Given the description of an element on the screen output the (x, y) to click on. 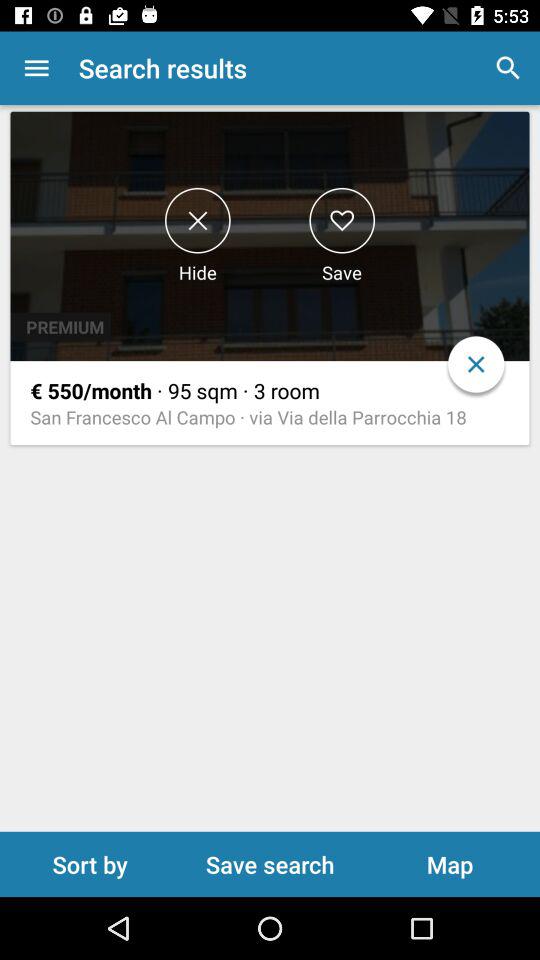
choose item next to the search results (36, 68)
